Given the description of an element on the screen output the (x, y) to click on. 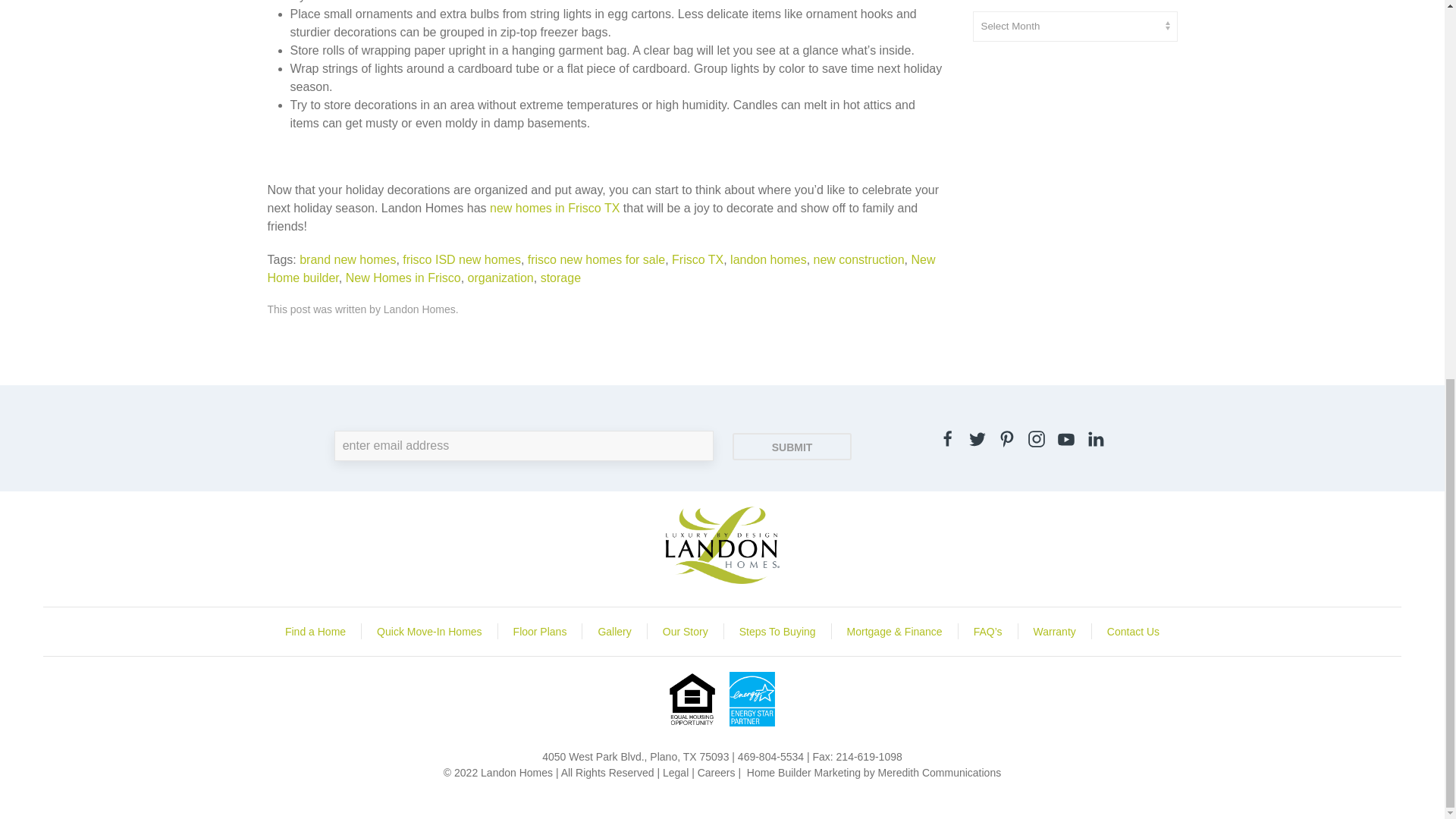
brand new homes (347, 259)
Frisco TX (697, 259)
submit (791, 446)
frisco new homes for sale (596, 259)
frisco ISD new homes (462, 259)
new homes in Frisco TX (554, 207)
landon homes (768, 259)
